Given the description of an element on the screen output the (x, y) to click on. 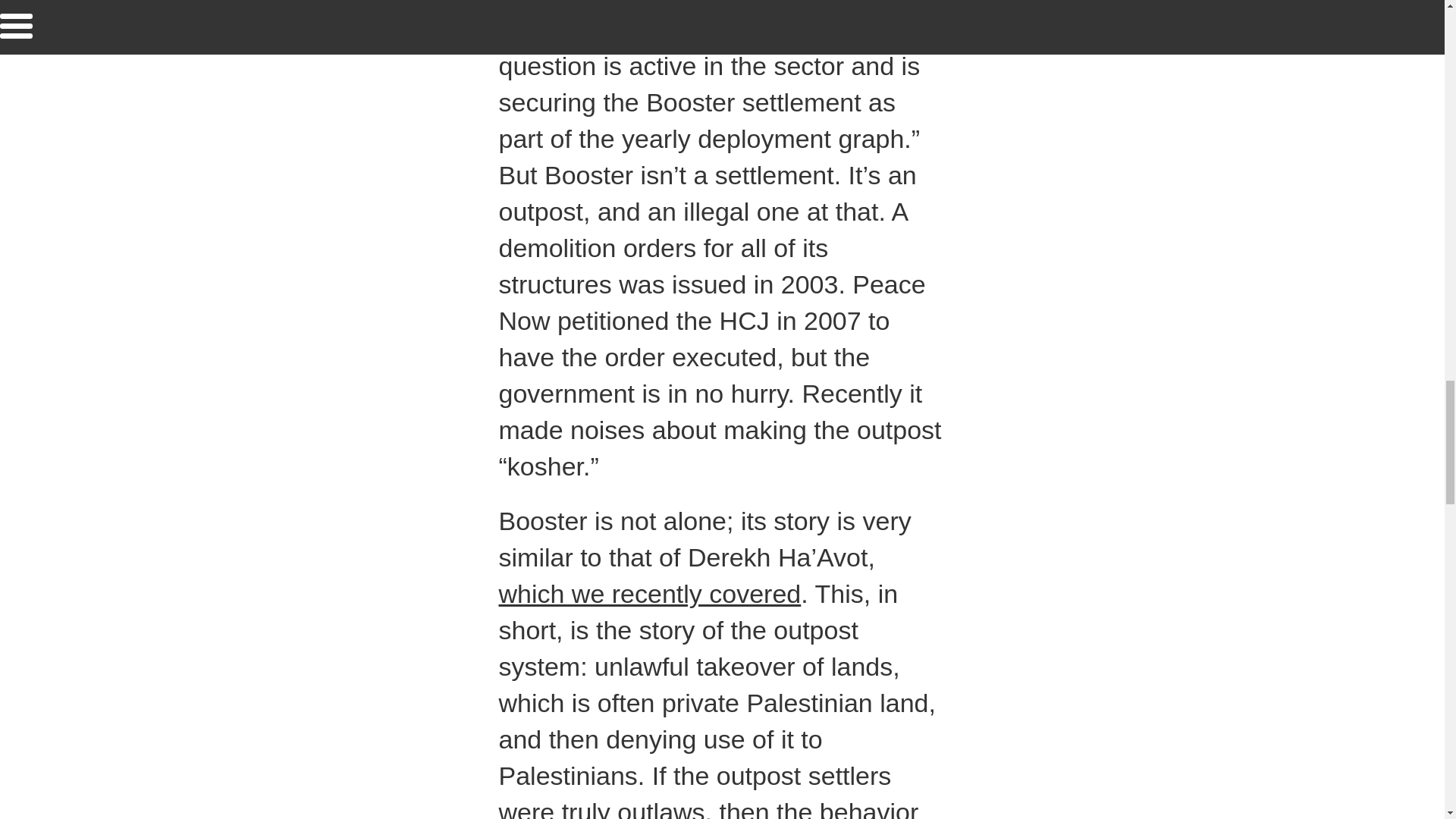
which we recently covered (650, 593)
